Given the description of an element on the screen output the (x, y) to click on. 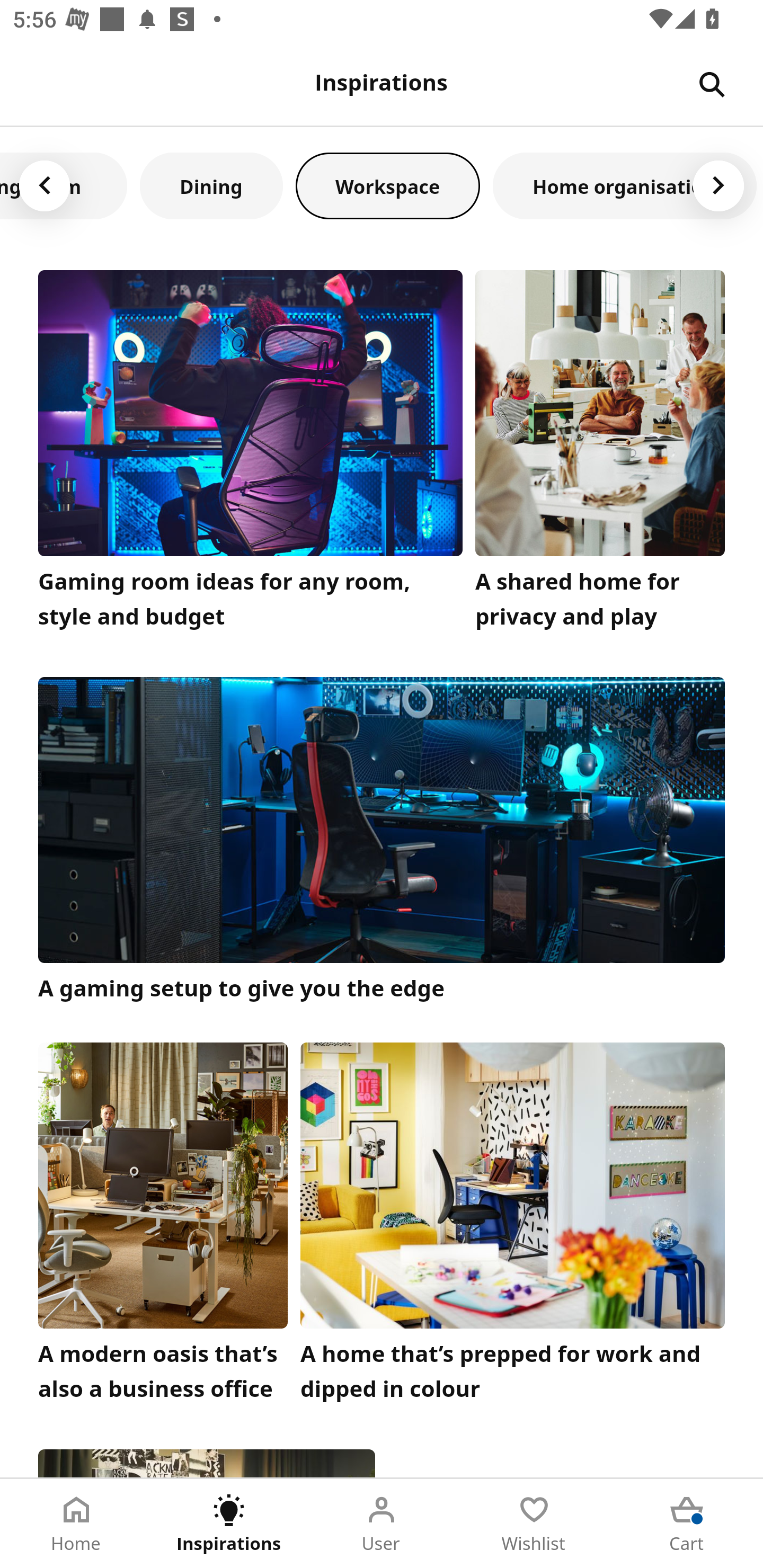
Dining (211, 185)
Workspace (387, 185)
Home organisation (624, 185)
Gaming room ideas for any room, style and budget (250, 453)
A shared home for privacy and play (599, 453)
A gaming setup to give you the edge (381, 841)
A modern oasis that’s also a business office (162, 1226)
Home
Tab 1 of 5 (76, 1522)
Inspirations
Tab 2 of 5 (228, 1522)
User
Tab 3 of 5 (381, 1522)
Wishlist
Tab 4 of 5 (533, 1522)
Cart
Tab 5 of 5 (686, 1522)
